Given the description of an element on the screen output the (x, y) to click on. 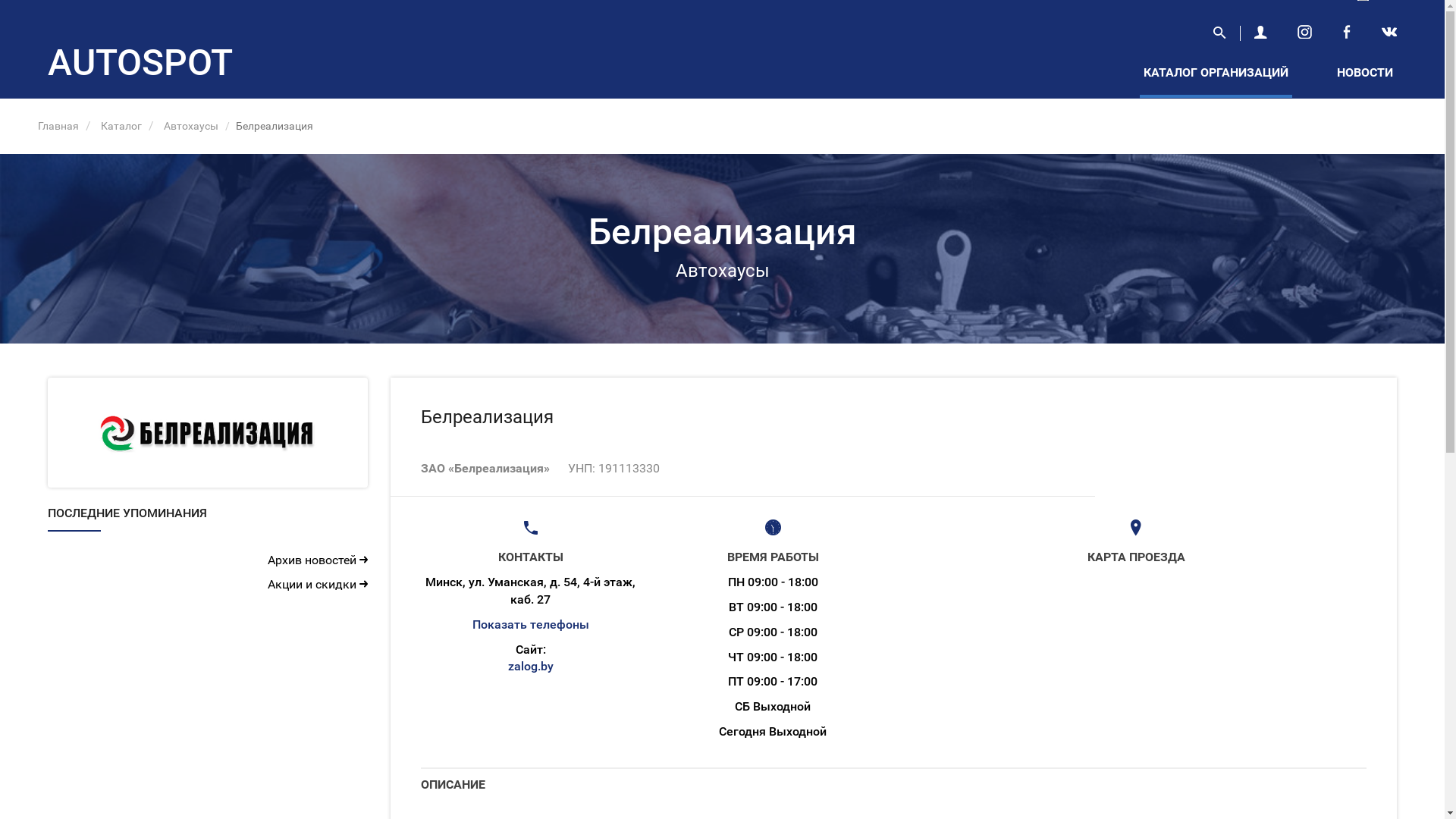
AUTOSPOT Element type: text (139, 63)
zalog.by Element type: text (530, 665)
